Given the description of an element on the screen output the (x, y) to click on. 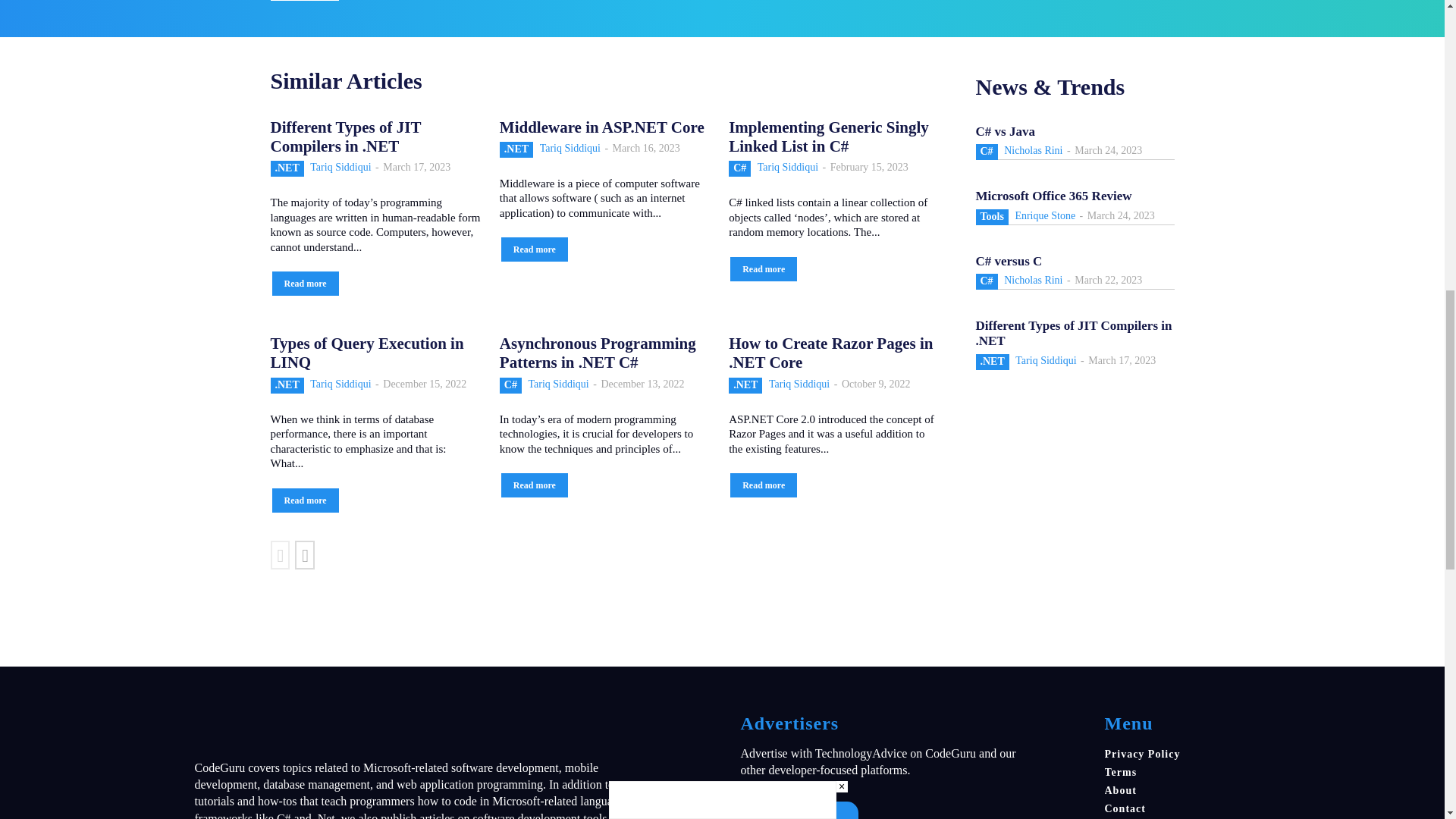
Read more (303, 0)
